Given the description of an element on the screen output the (x, y) to click on. 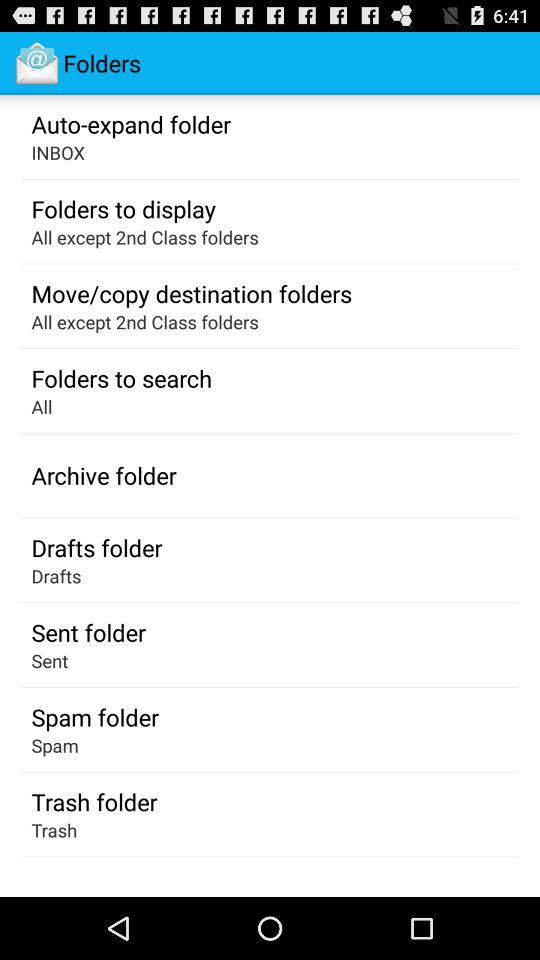
tap icon below the archive folder app (96, 547)
